Given the description of an element on the screen output the (x, y) to click on. 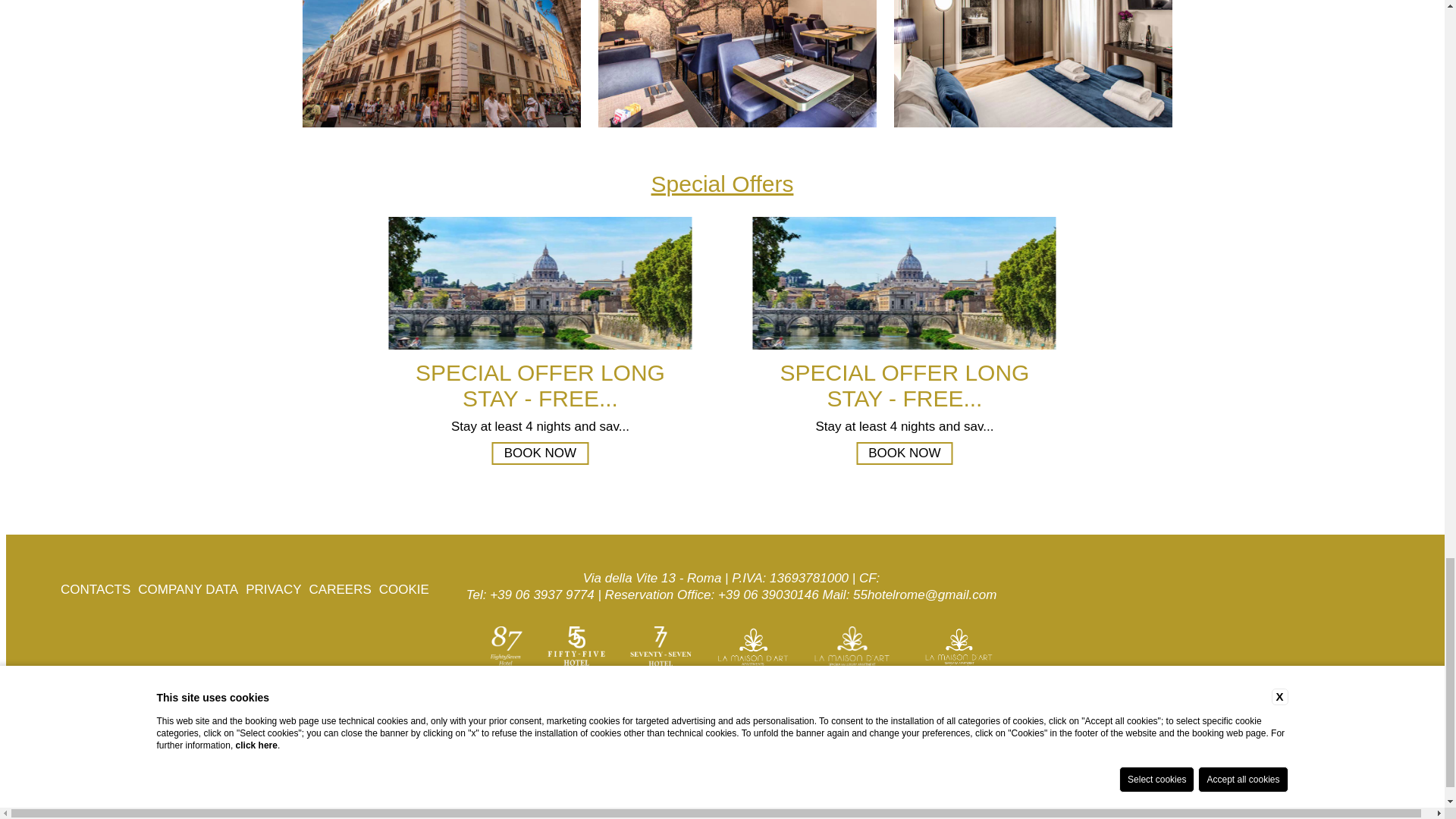
Hotel (904, 283)
Hotel (539, 283)
Hotel (759, 63)
Contacts (96, 589)
Hotel (1055, 63)
Company Data (188, 589)
Hotel (464, 63)
